Given the description of an element on the screen output the (x, y) to click on. 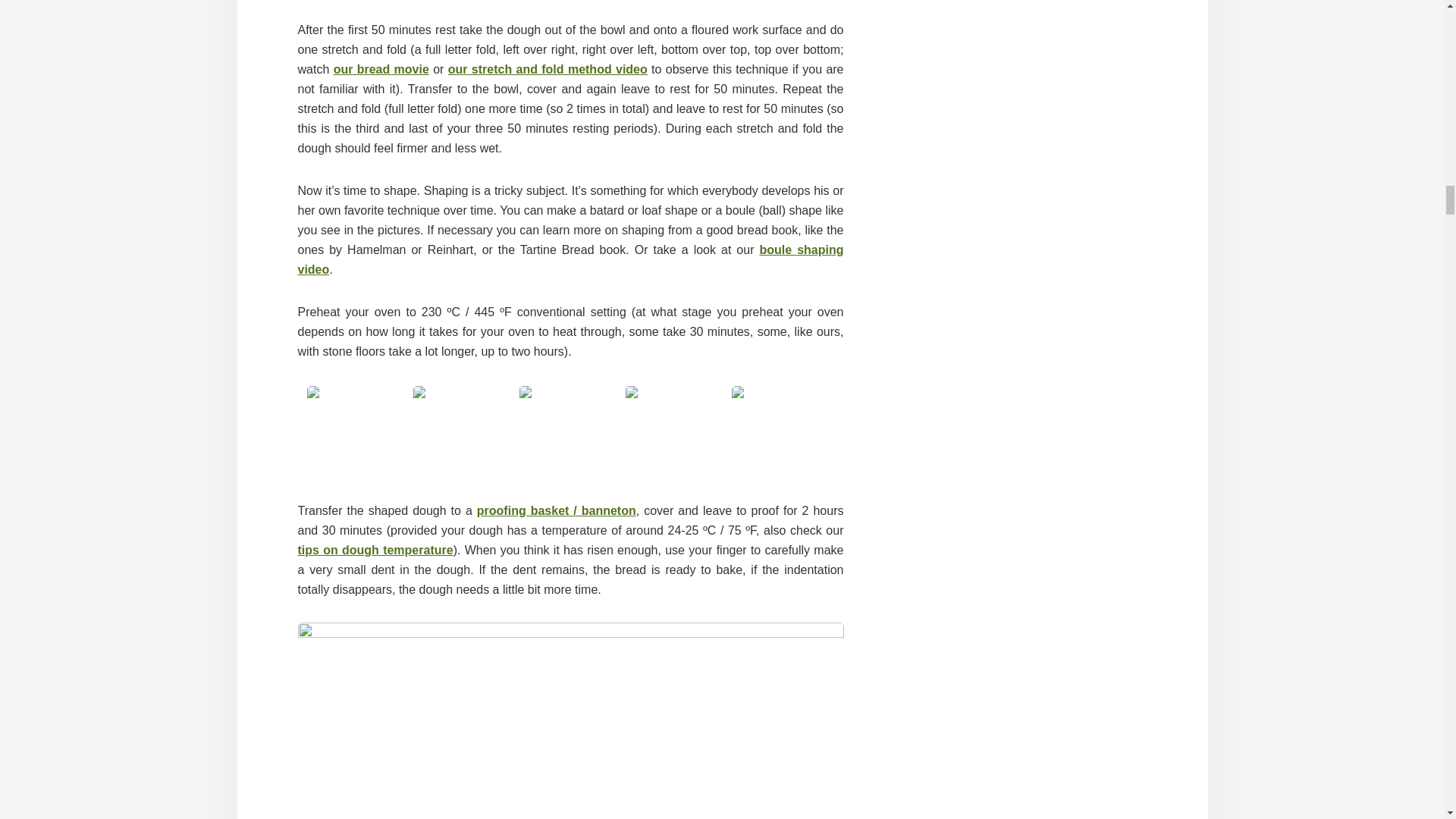
Pain Naturel - Scored bread ready for the oven (782, 436)
Pain Naturel - Turn proofing basket place bread on peel (463, 436)
Pain Naturel - Final proofing in bannetons (357, 436)
Pain Naturel - Bread holds shape nicely, ready to be scored (569, 436)
